Given the description of an element on the screen output the (x, y) to click on. 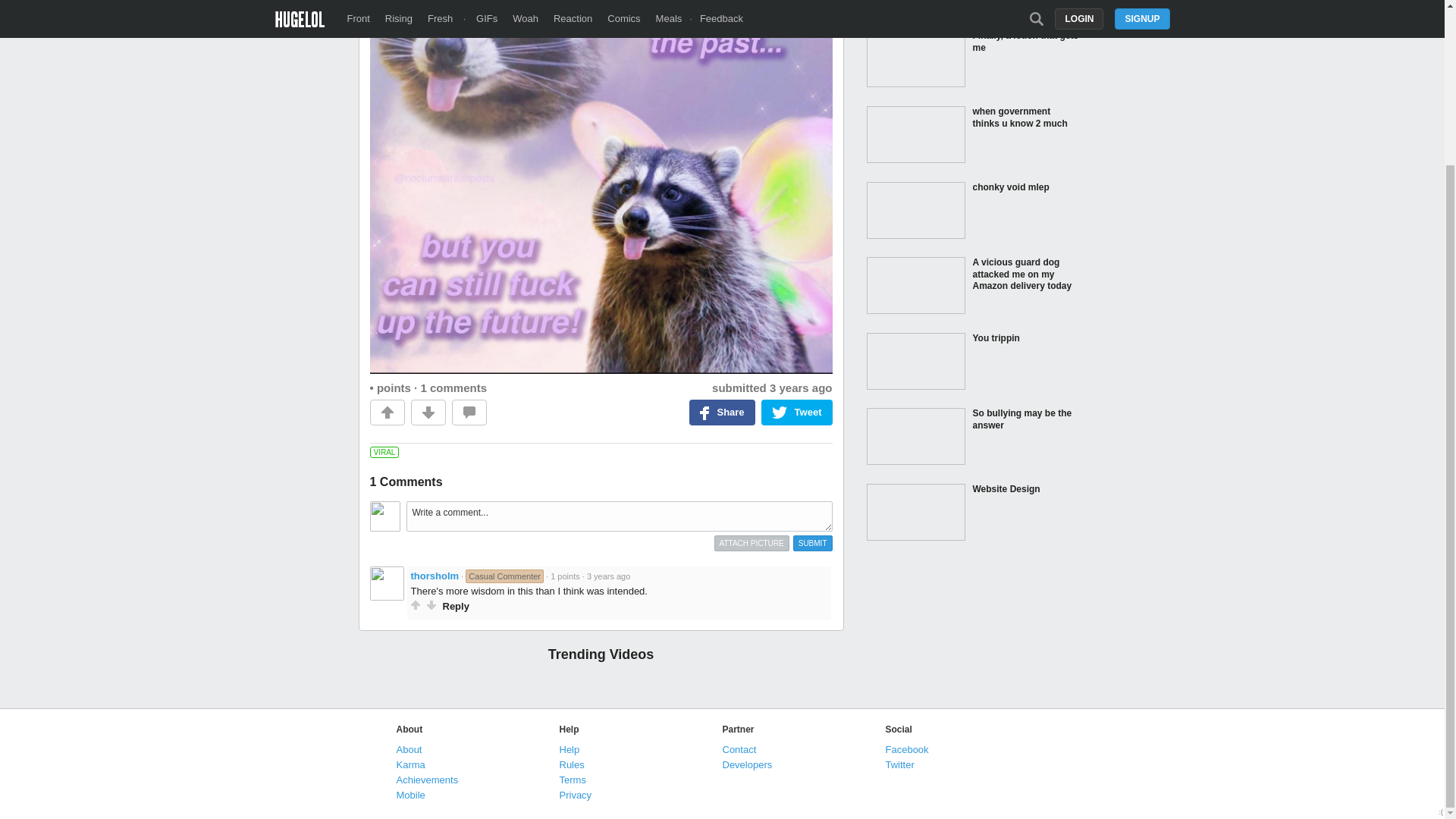
1 comments (453, 387)
I took a photo of our neighbours cat wanting to come in (972, 11)
chonky void mlep (972, 212)
So bullying may be the answer (972, 437)
3 years ago (608, 575)
Reply (455, 605)
2021-03-06T21:20:10-05:00 (801, 387)
when government thinks u know 2 much (972, 136)
Finally, a lotion that gets me (972, 60)
A vicious guard dog attacked me on my Amazon delivery today (972, 287)
2021-03-07T04:51:41-05:00 (608, 575)
Website Design (972, 513)
You trippin (972, 363)
thorsholm (435, 575)
